Given the description of an element on the screen output the (x, y) to click on. 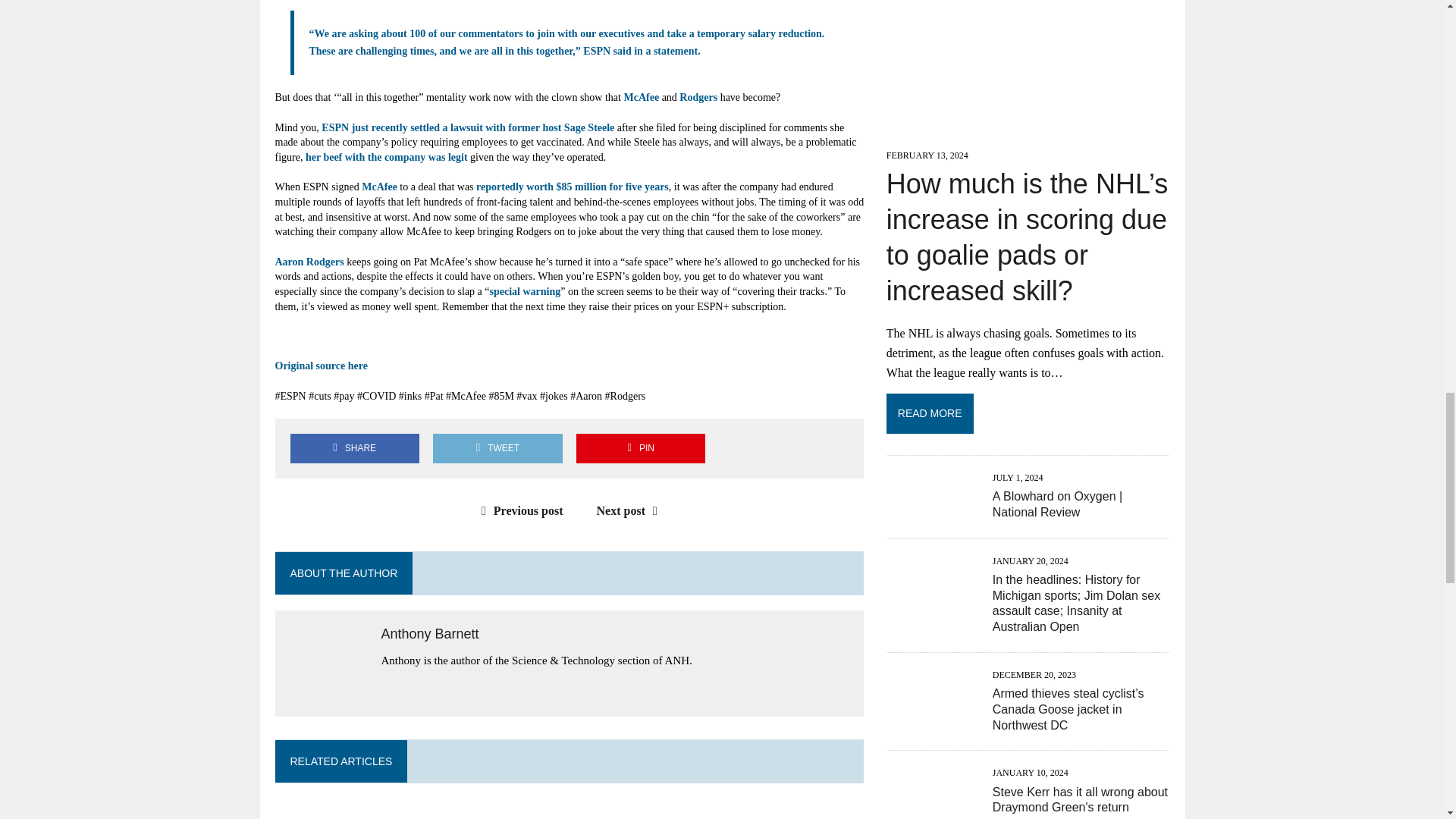
Pin This Post (640, 448)
Tweet This Post (497, 448)
Share on Facebook (354, 448)
